Given the description of an element on the screen output the (x, y) to click on. 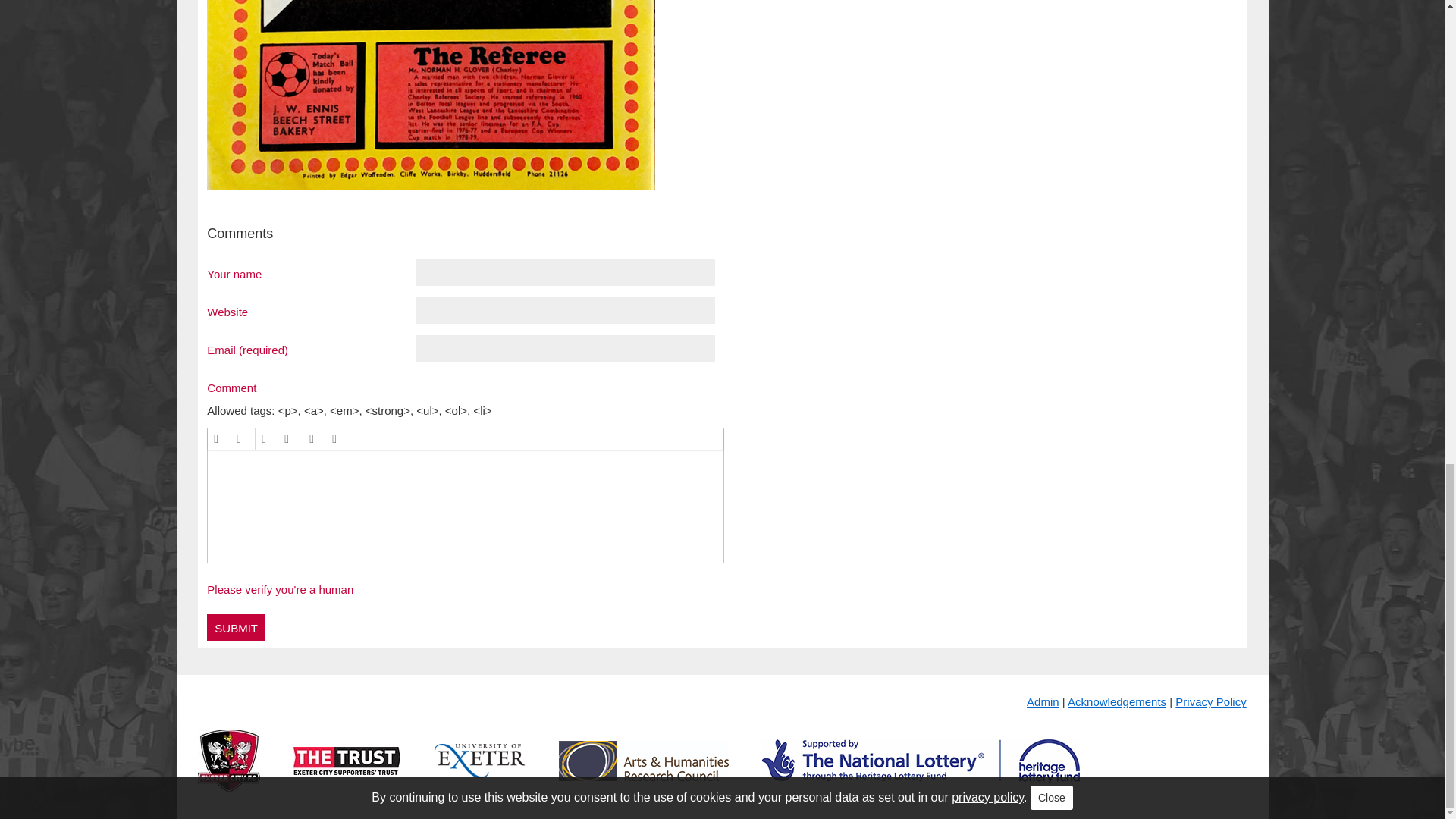
Exeter City Football Club (229, 772)
Heritage Lottery Fund (920, 772)
University of Exeter (479, 772)
Submit (235, 627)
Exeter City Supporters' Trust (347, 772)
Click to view full screen (430, 94)
Arts and Humanities Research Council (644, 772)
